Given the description of an element on the screen output the (x, y) to click on. 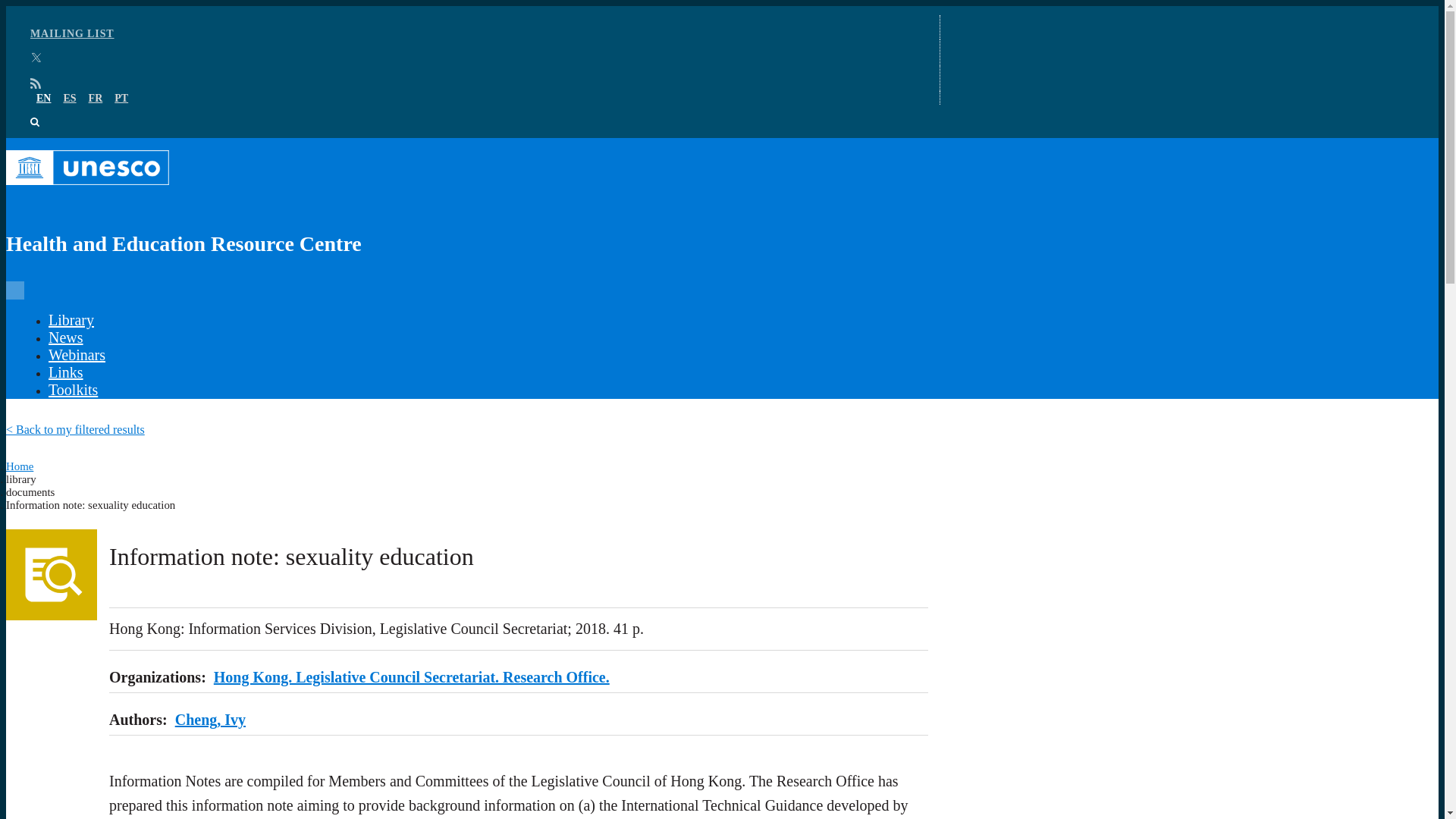
EN (43, 98)
MAILING LIST (72, 33)
PT (121, 98)
Toolkits (72, 389)
Skip to main content (722, 7)
FR (95, 98)
Cheng, Ivy (210, 719)
Home (19, 466)
Hong Kong. Legislative Council Secretariat. Research Office. (412, 677)
Webinars (76, 354)
Library (71, 320)
Health and Education Resource Centre (466, 209)
News (65, 337)
ES (68, 98)
Links (65, 371)
